Given the description of an element on the screen output the (x, y) to click on. 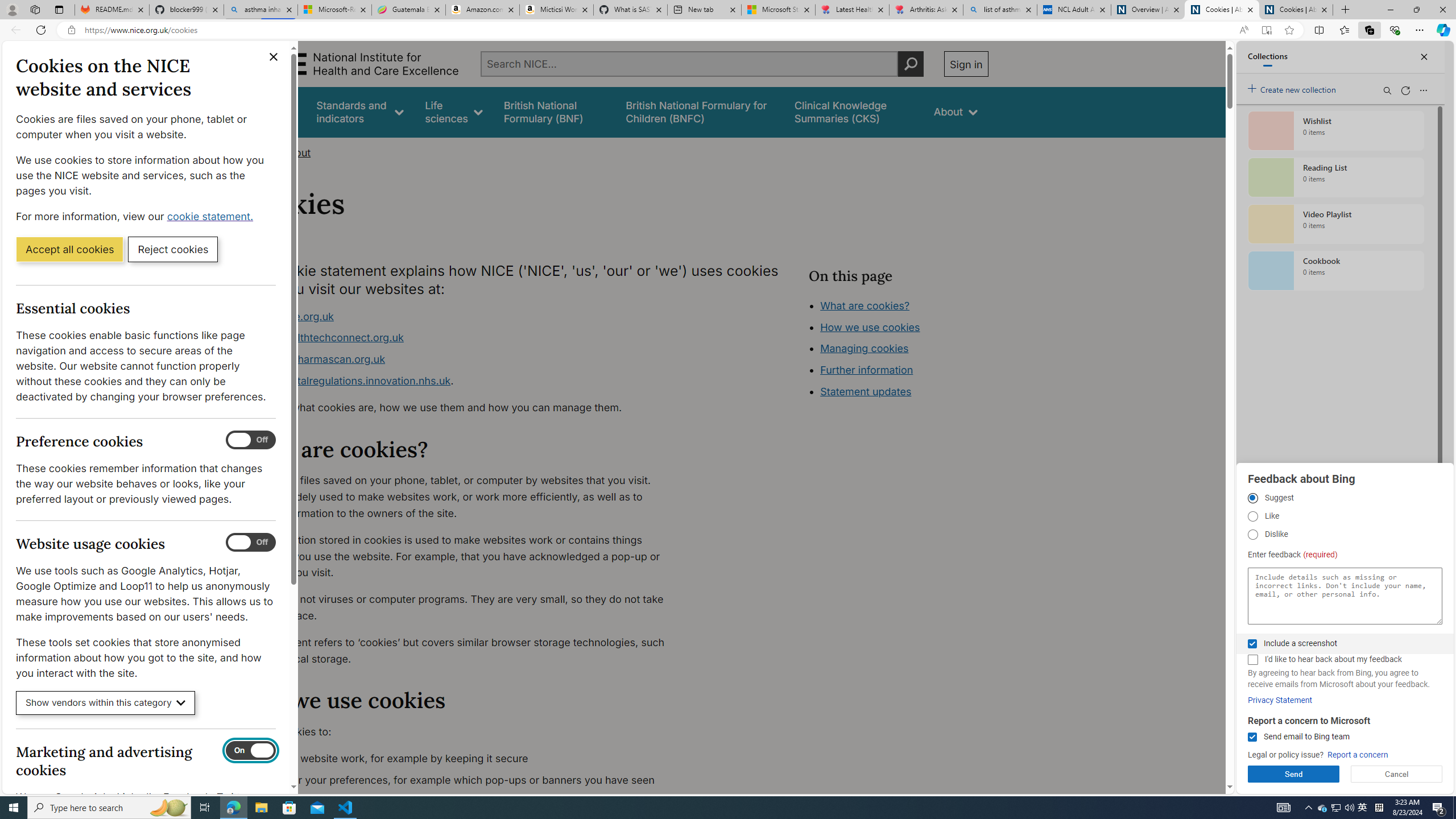
Further information (865, 369)
Class: in-page-nav__list (898, 349)
www.ukpharmascan.org.uk (318, 359)
How we use cookies (909, 389)
Reject cookies (173, 248)
British National Formulary for Children (BNFC) (699, 111)
How we use cookies (869, 327)
www.nice.org.uk (292, 315)
Accept all cookies (69, 248)
